Given the description of an element on the screen output the (x, y) to click on. 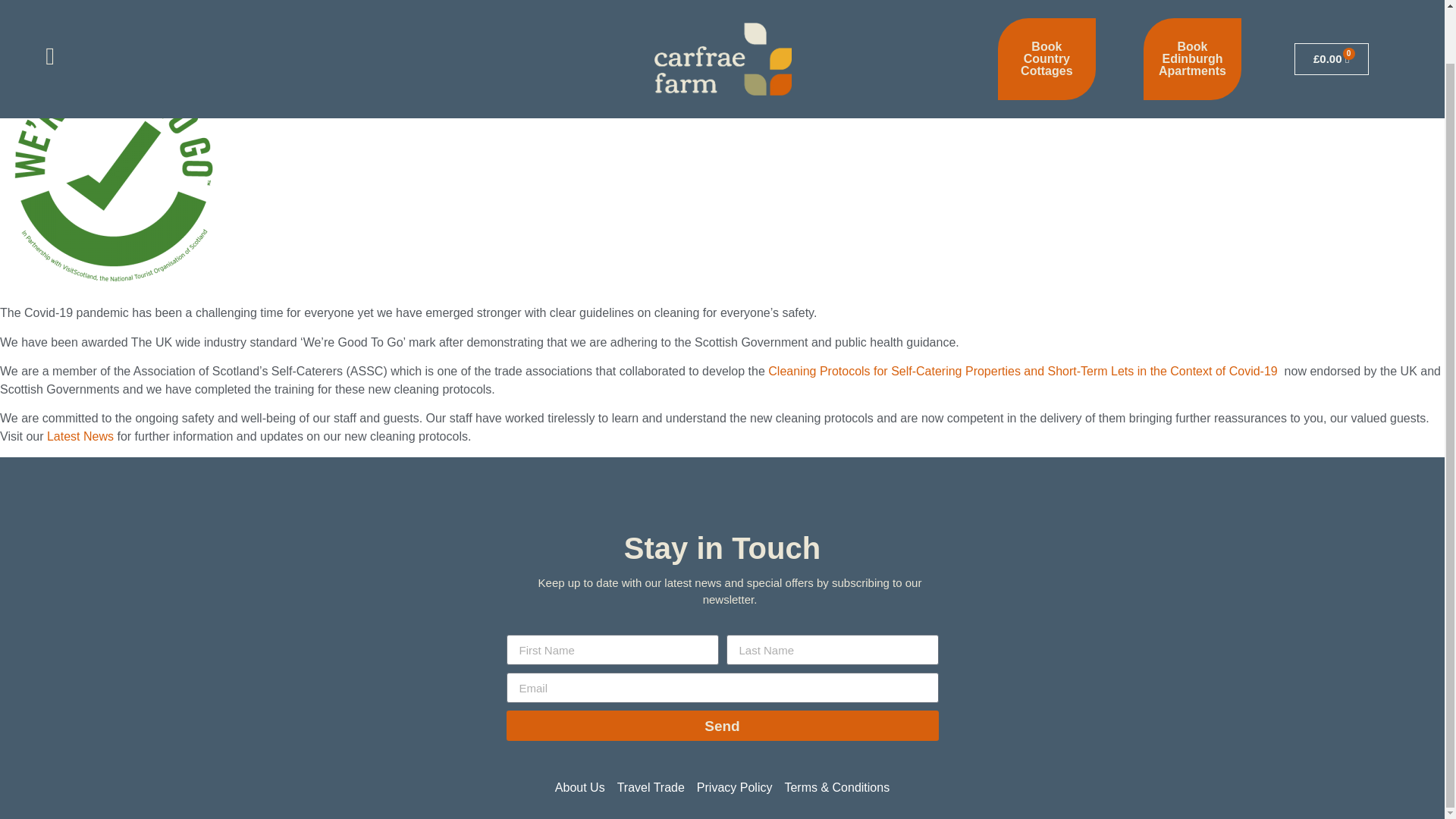
About Us (579, 787)
Travel Trade (650, 787)
Privacy Policy (735, 787)
Latest News (79, 436)
Send (722, 725)
